Given the description of an element on the screen output the (x, y) to click on. 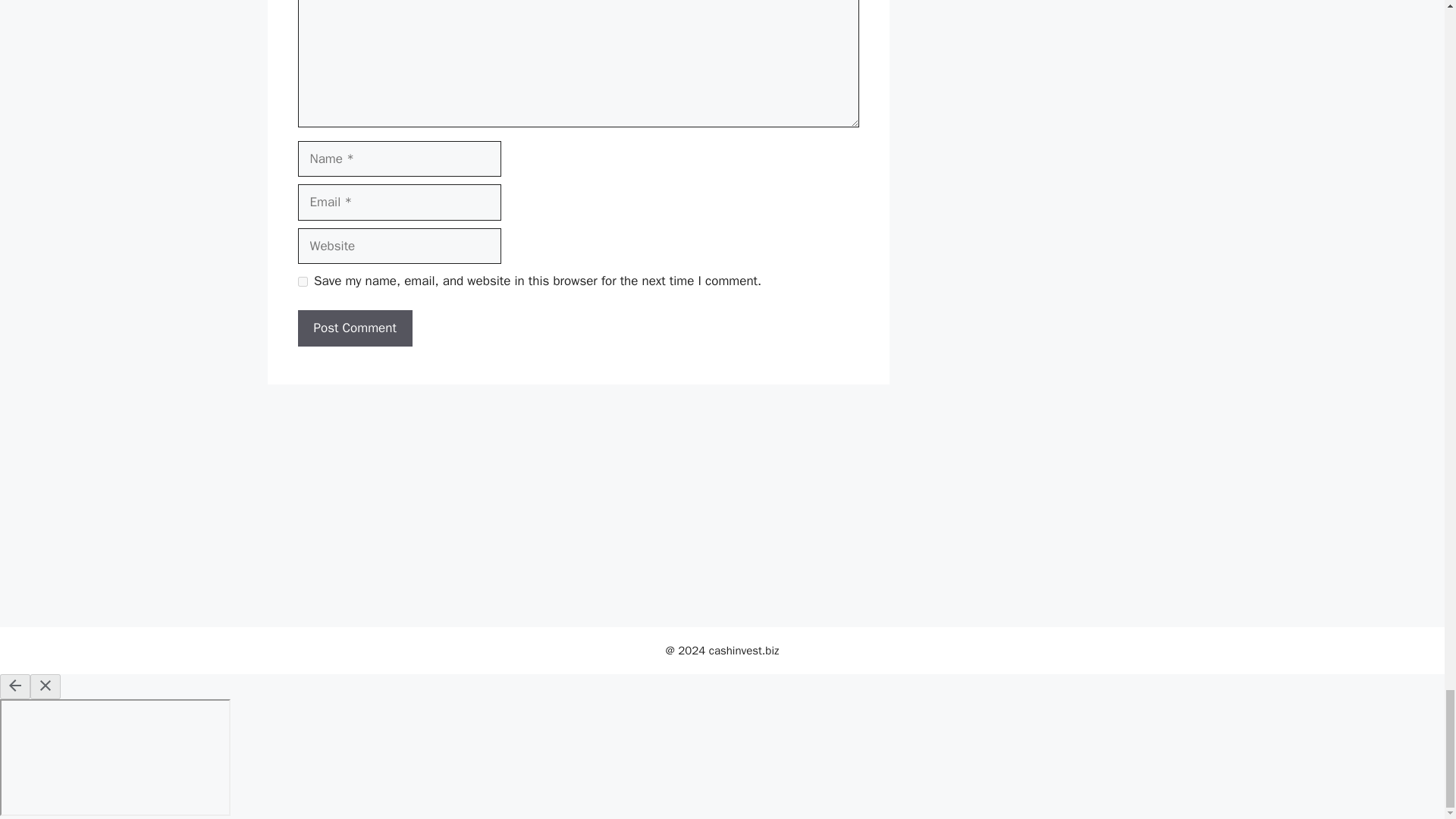
Post Comment (354, 328)
yes (302, 281)
Post Comment (354, 328)
